Given the description of an element on the screen output the (x, y) to click on. 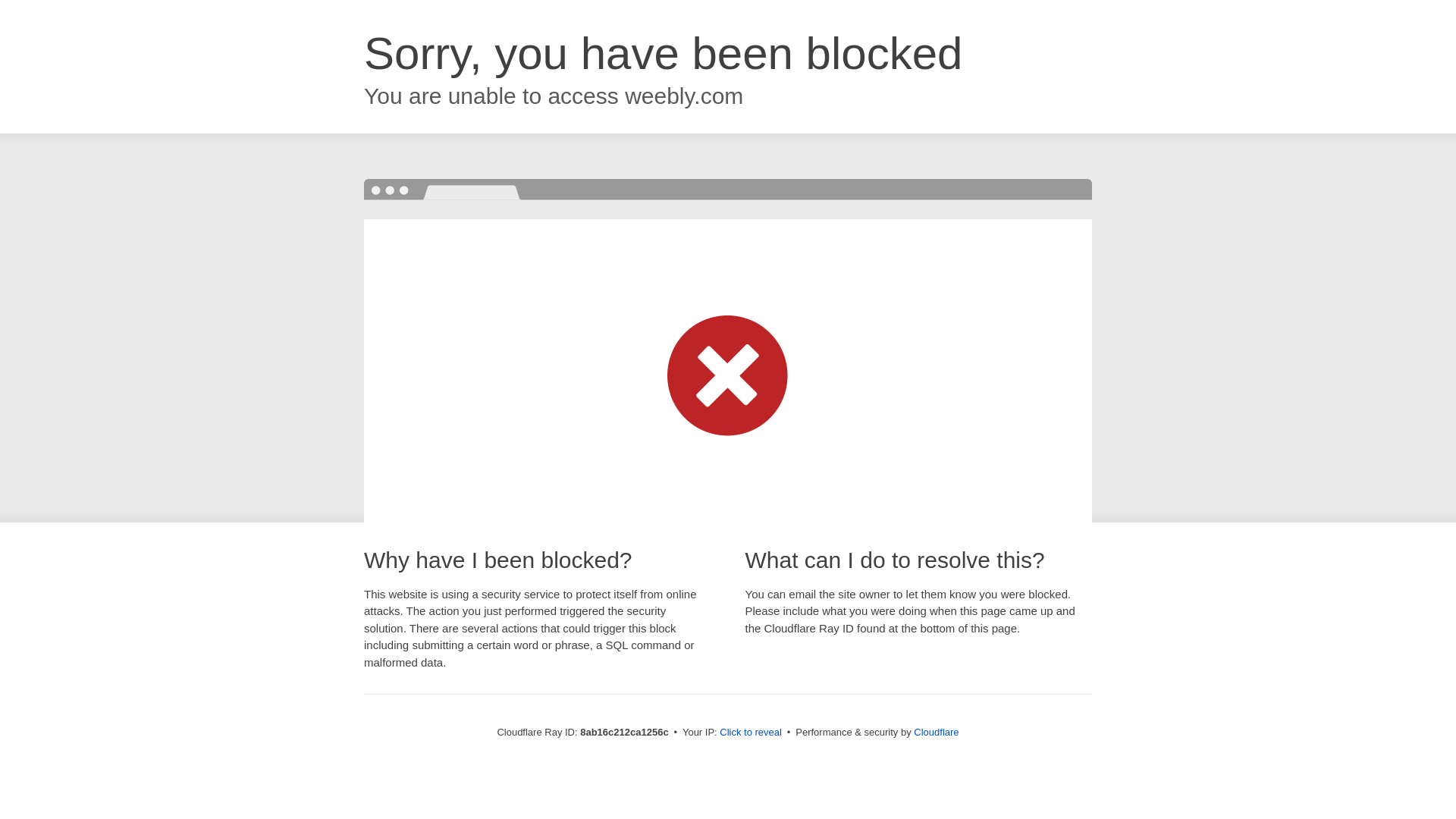
Click to reveal (750, 732)
Cloudflare (936, 731)
